Given the description of an element on the screen output the (x, y) to click on. 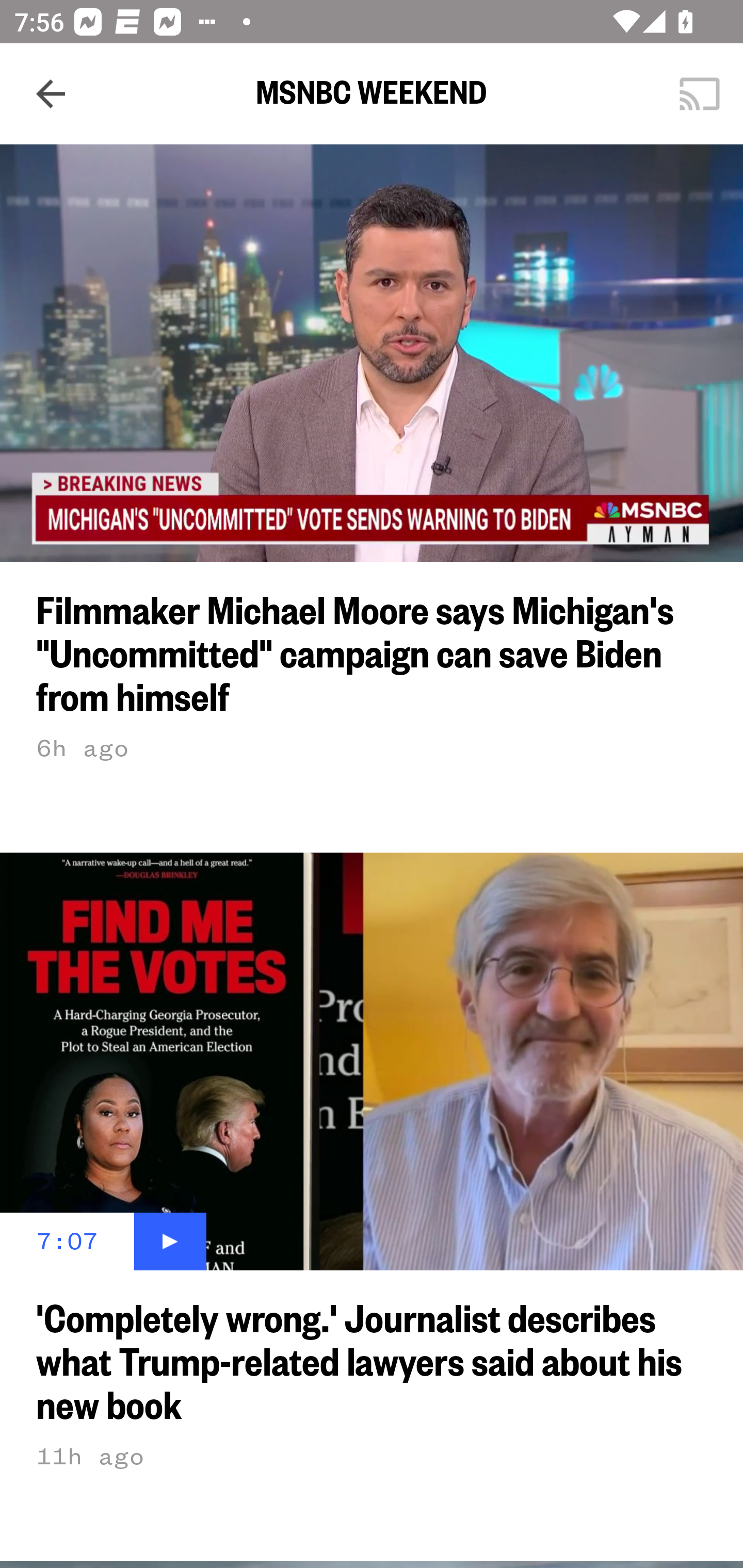
Navigate up (50, 93)
Cast. Disconnected (699, 93)
